Given the description of an element on the screen output the (x, y) to click on. 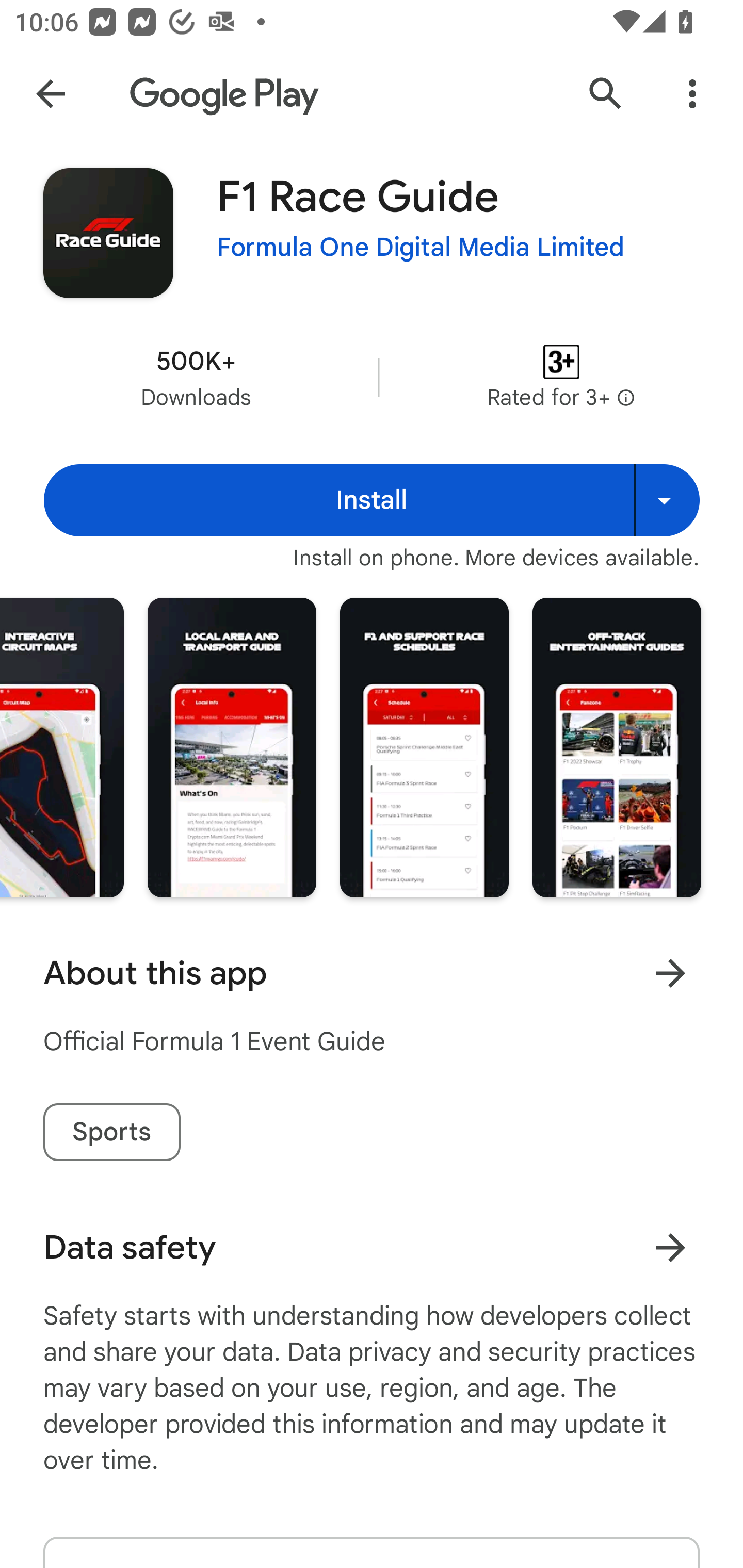
Navigate up (50, 93)
Search Google Play (605, 93)
More Options (692, 93)
Formula One Digital Media Limited (420, 247)
Content rating Rated for 3+ (561, 377)
Install Install Install on more devices (371, 500)
Install on more devices (667, 500)
Screenshot "3" of "6" (62, 746)
Screenshot "4" of "6" (231, 746)
Screenshot "5" of "6" (424, 746)
Screenshot "6" of "6" (616, 746)
About this app Learn more About this app (371, 972)
Learn more About this app (670, 972)
Sports tag (111, 1132)
Data safety Learn more about data safety (371, 1247)
Learn more about data safety (670, 1247)
